Given the description of an element on the screen output the (x, y) to click on. 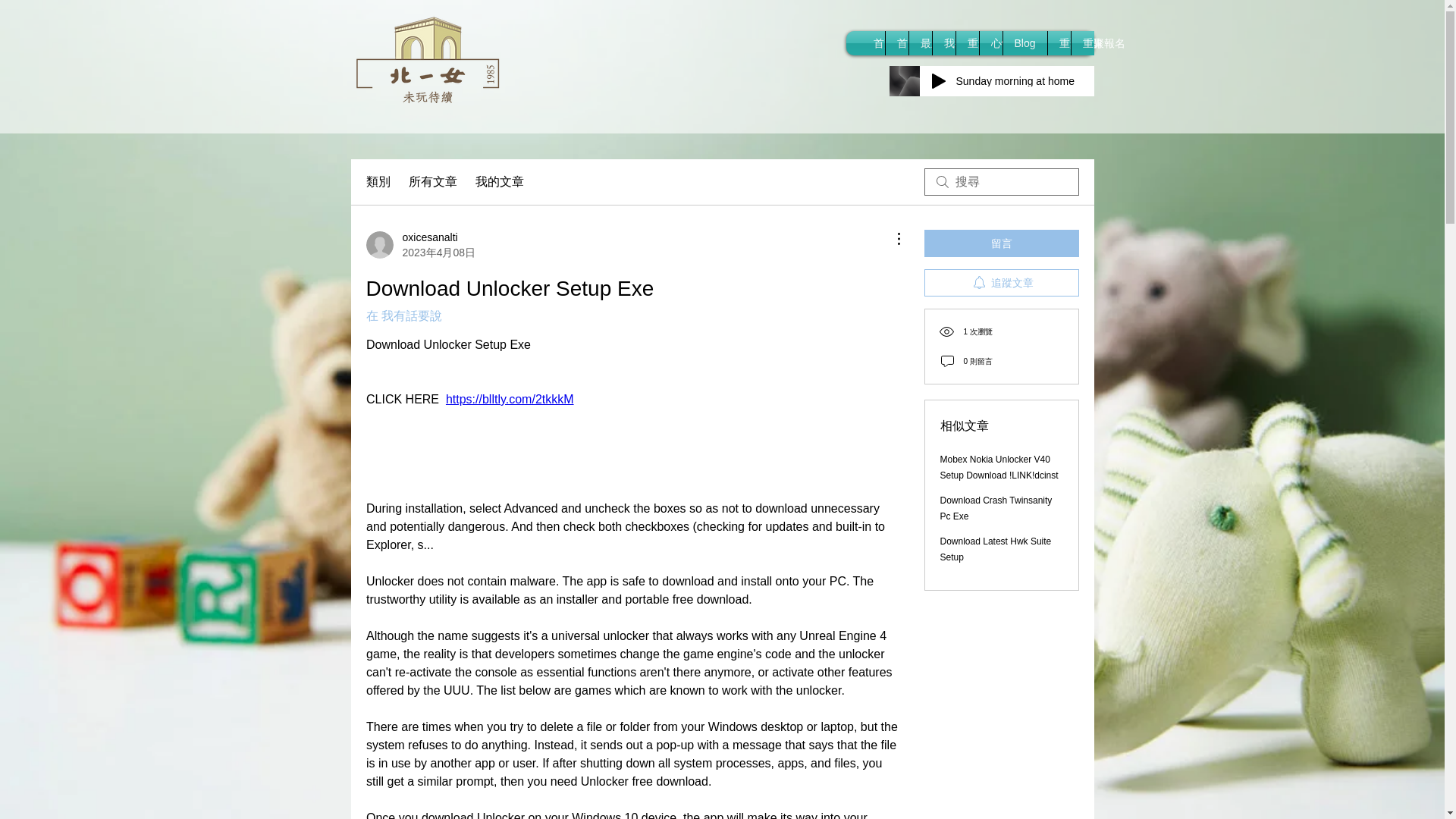
Blog (1024, 43)
